Given the description of an element on the screen output the (x, y) to click on. 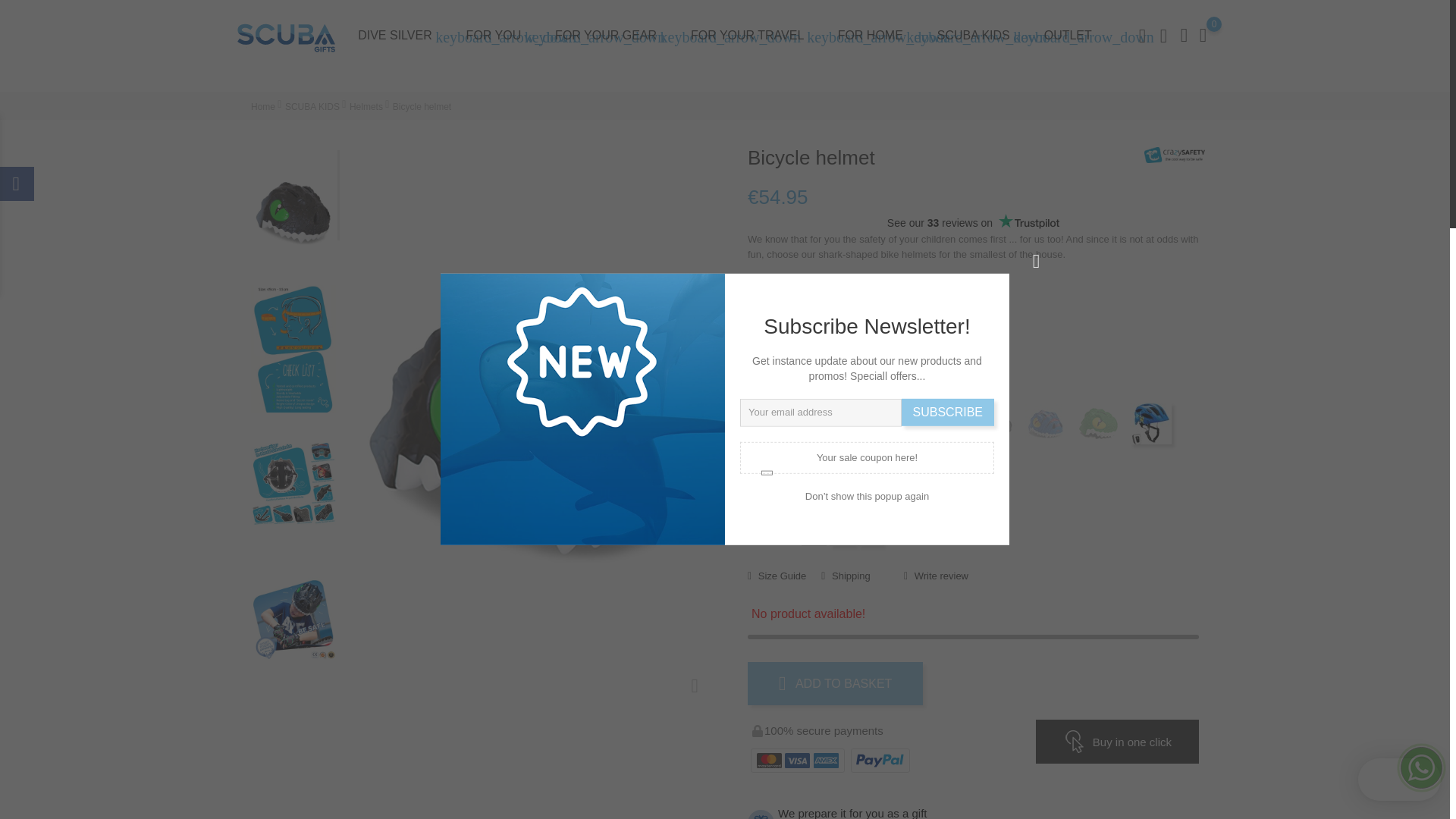
1 (814, 533)
